Given the description of an element on the screen output the (x, y) to click on. 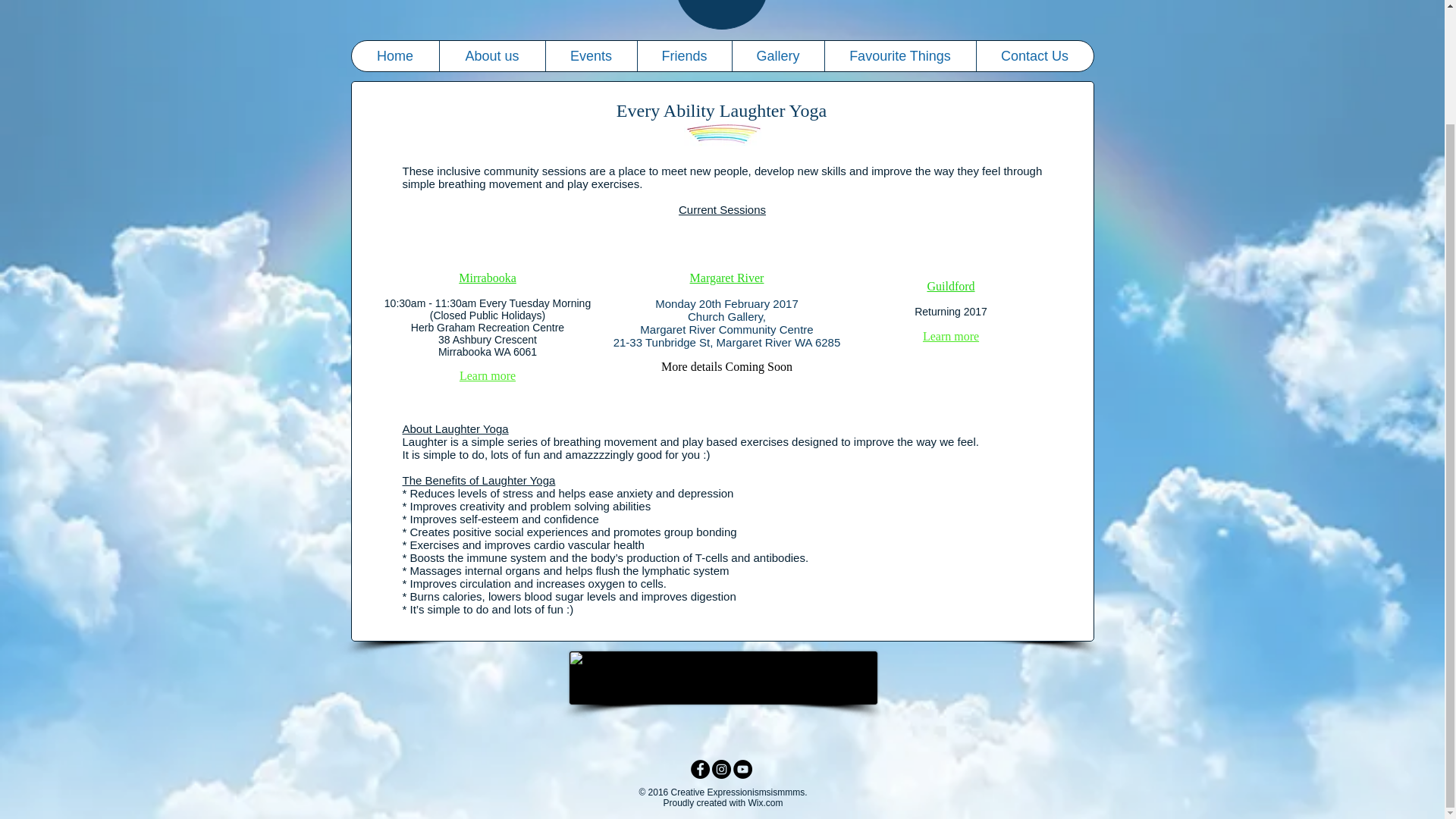
About us (491, 55)
Learn more (950, 336)
Spirals (722, 677)
Gallery (777, 55)
Events (590, 55)
Learn more (487, 375)
Favourite Things (899, 55)
Contact Us (1034, 55)
Friends (684, 55)
Wix.com (765, 802)
Home (395, 55)
